Given the description of an element on the screen output the (x, y) to click on. 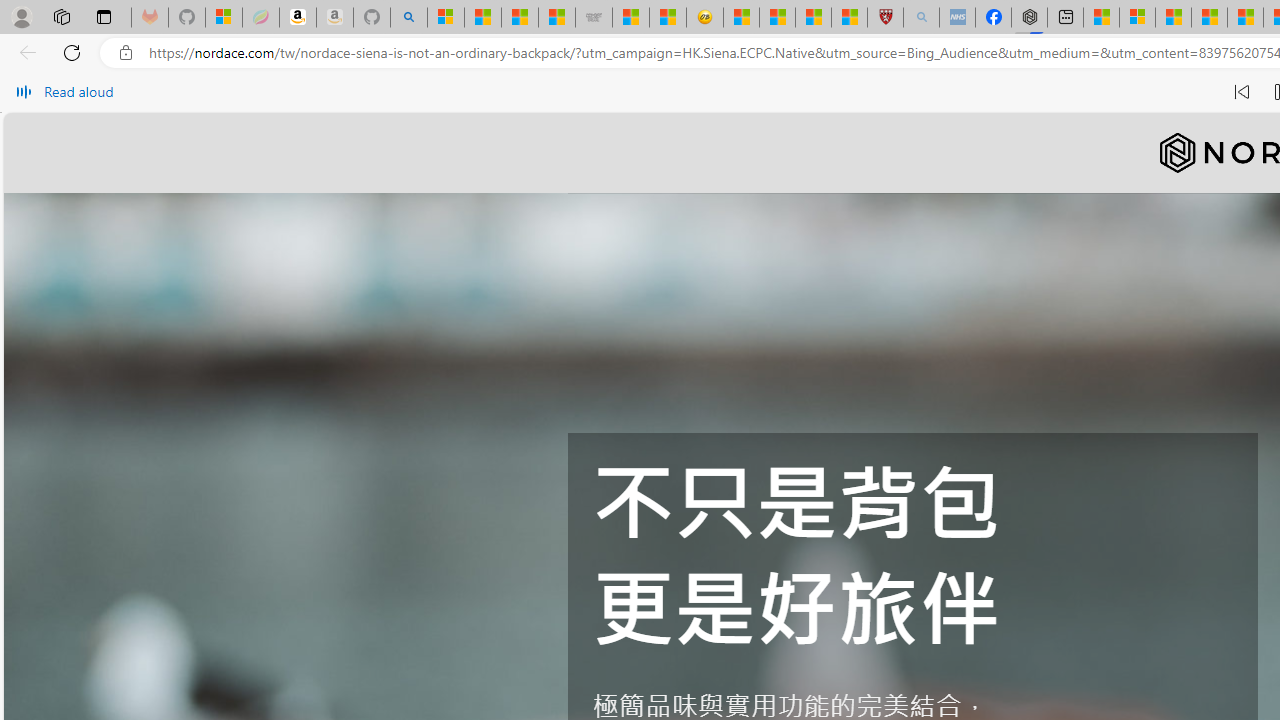
Stocks - MSN (556, 17)
Microsoft-Report a Concern to Bing (223, 17)
Nordace - Nordace Siena Is Not An Ordinary Backpack (1029, 17)
Microsoft account | Privacy (1137, 17)
14 Common Myths Debunked By Scientific Facts (1209, 17)
Robert H. Shmerling, MD - Harvard Health (884, 17)
